Given the description of an element on the screen output the (x, y) to click on. 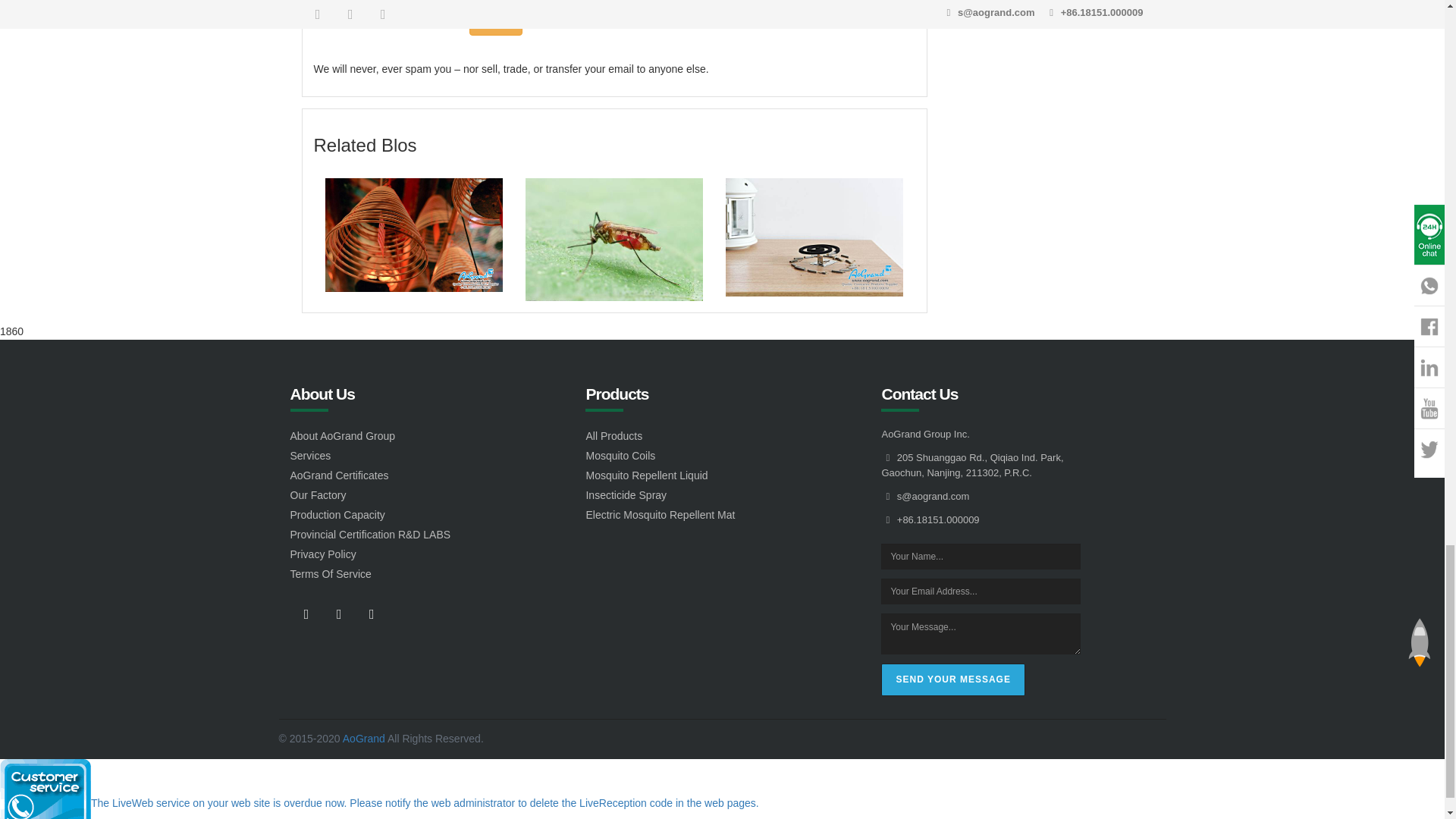
How to Clean the Mosquito Blood on the Sheet? (614, 239)
Necessity of Anti-mosquito -- Mosquito Coils (813, 236)
AoGrand (363, 738)
The Efficacy of Different Mosquito Repellents (413, 234)
Submit (495, 22)
